Given the description of an element on the screen output the (x, y) to click on. 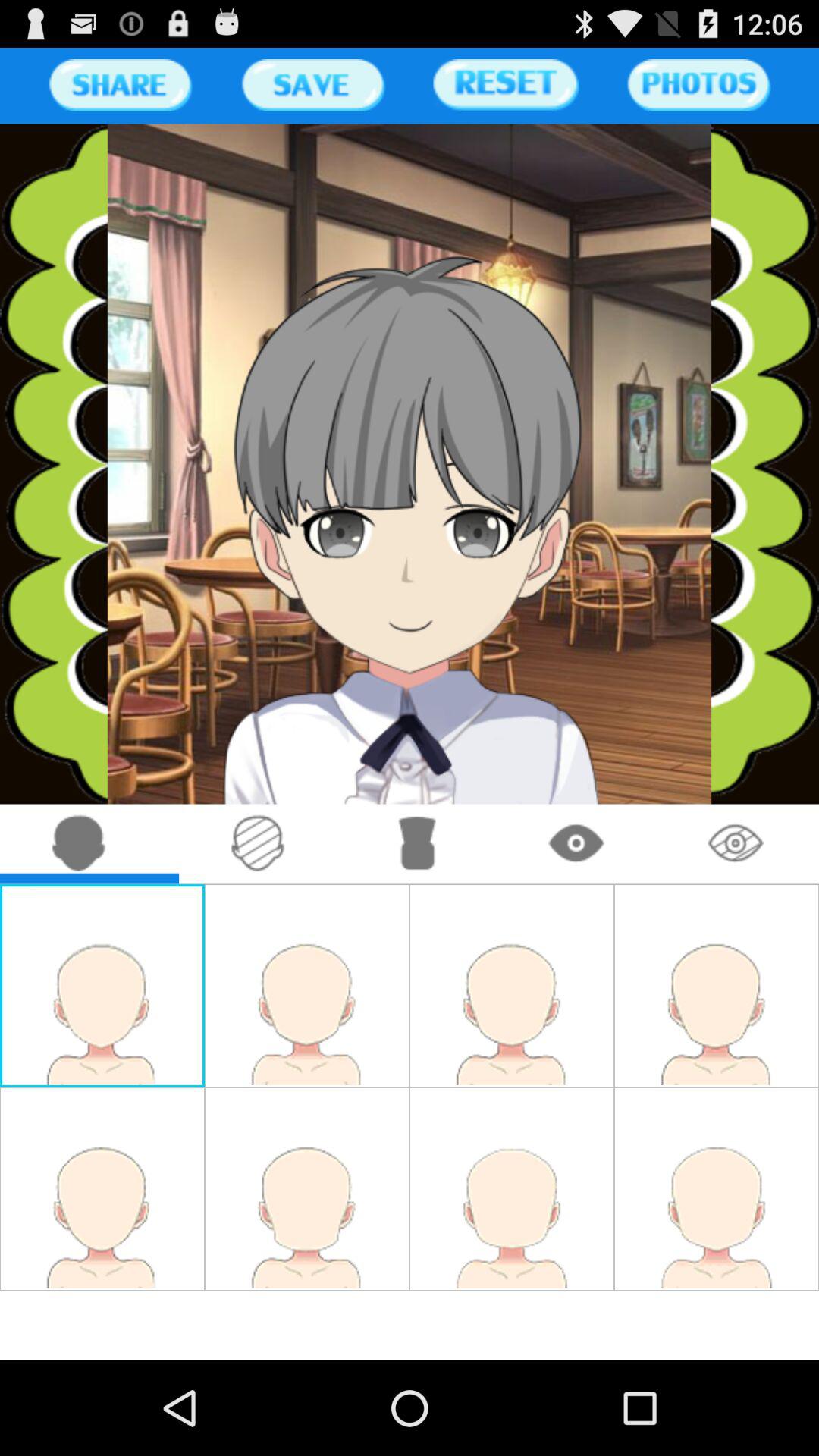
open photos (698, 85)
